Given the description of an element on the screen output the (x, y) to click on. 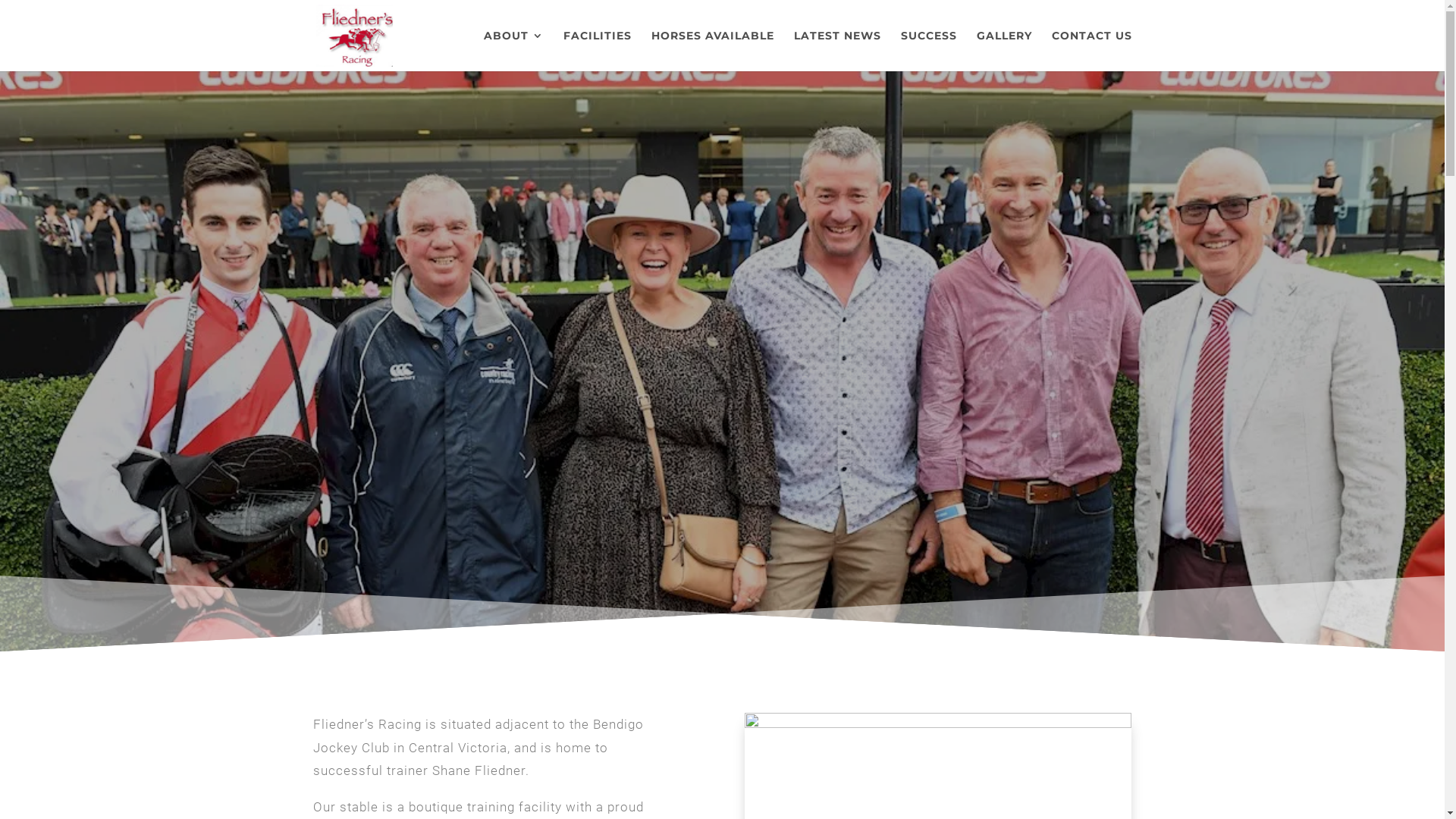
ABOUT Element type: text (513, 50)
SUCCESS Element type: text (928, 50)
HORSES AVAILABLE Element type: text (711, 50)
GALLERY Element type: text (1004, 50)
FACILITIES Element type: text (596, 50)
LATEST NEWS Element type: text (836, 50)
CONTACT US Element type: text (1091, 50)
1 Element type: text (709, 620)
2 Element type: text (721, 620)
3 Element type: text (734, 620)
